Given the description of an element on the screen output the (x, y) to click on. 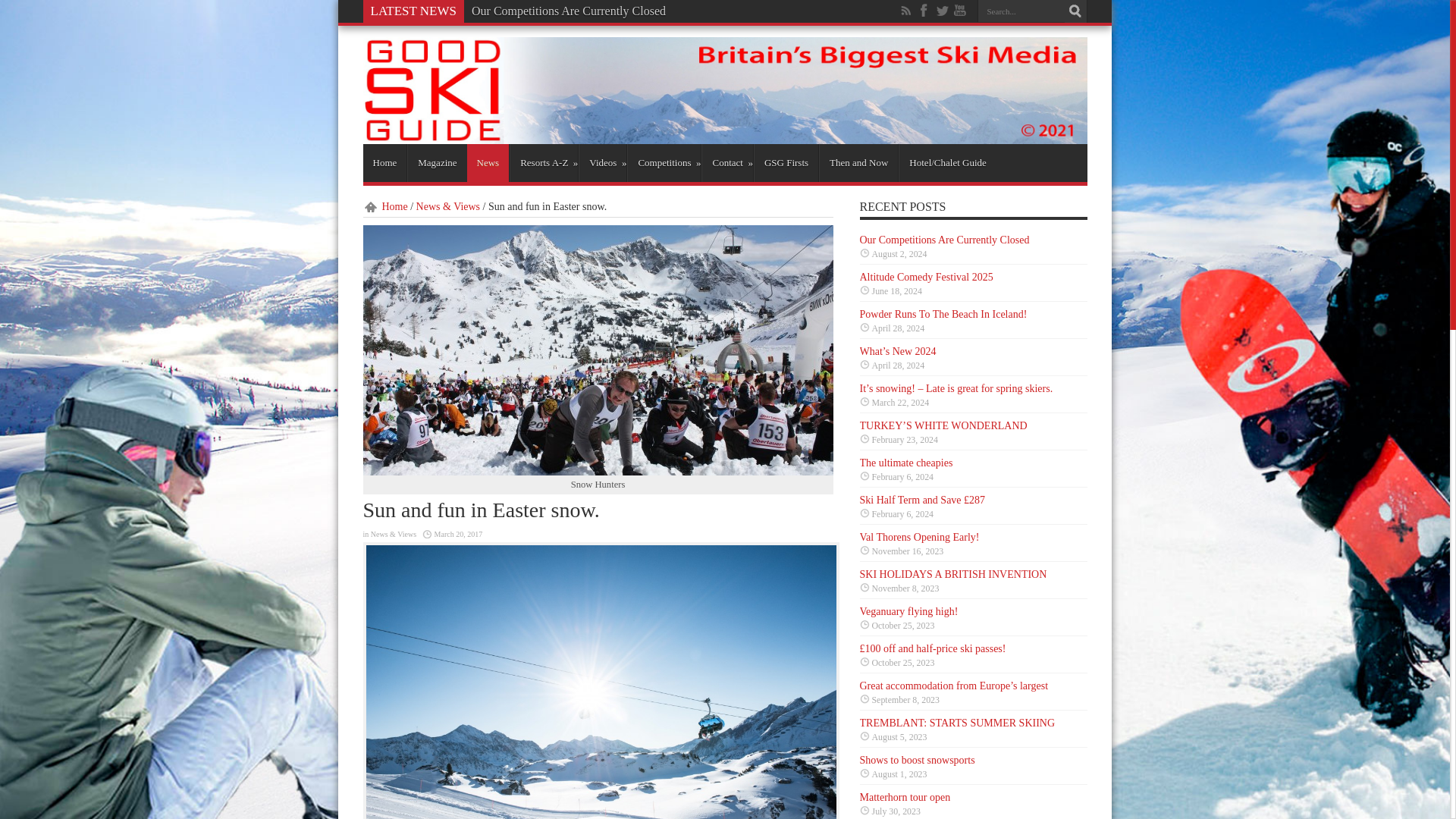
Sun and fun in Easter snow. (597, 350)
Home (384, 162)
Home (384, 206)
Magazine (436, 162)
Our Competitions Are Currently Closed (568, 11)
Search (1075, 11)
Search (1075, 11)
Search... (1020, 11)
Search (1075, 11)
GSG Firsts (786, 162)
